Given the description of an element on the screen output the (x, y) to click on. 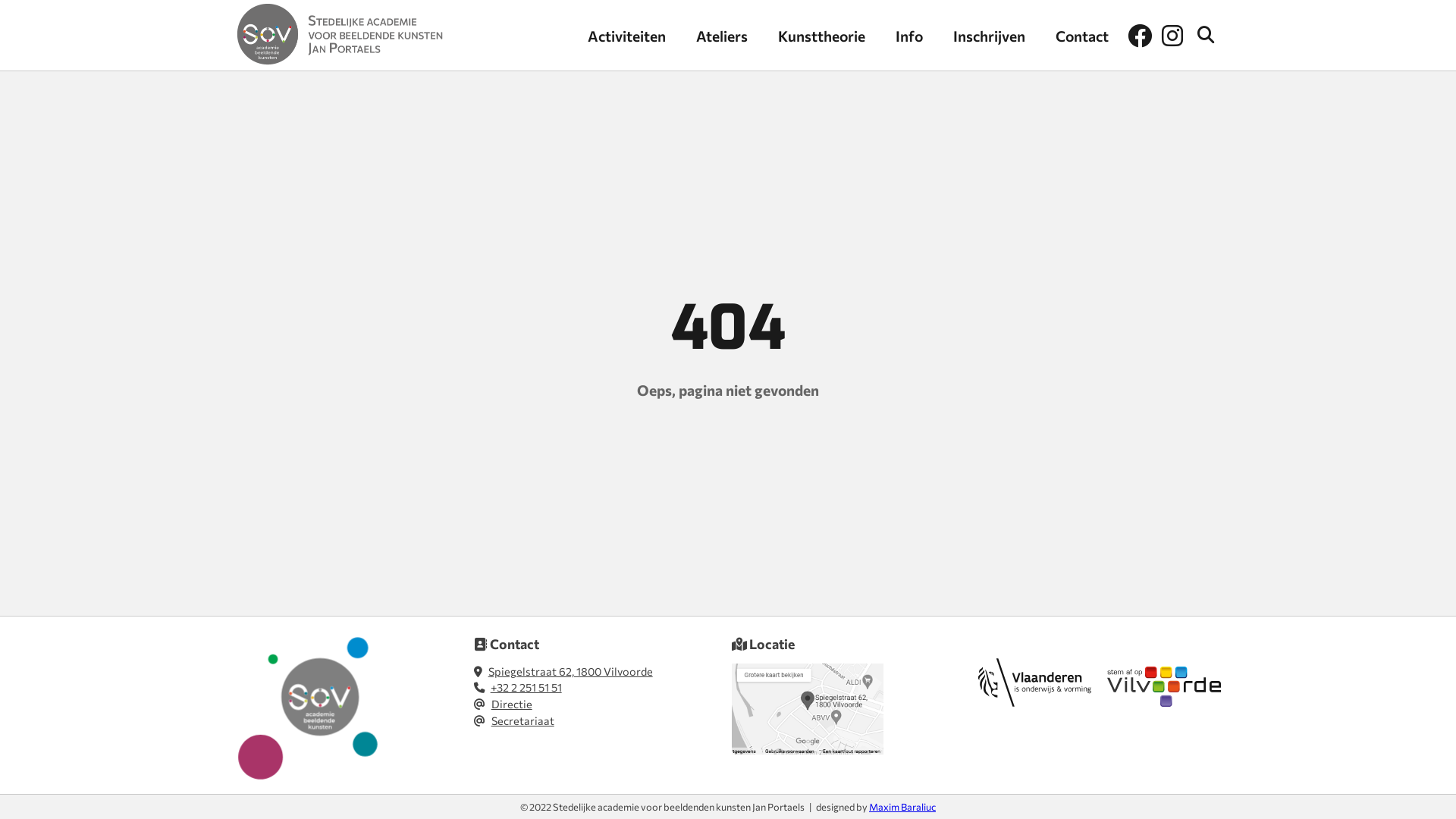
naar google map Element type: hover (807, 749)
Maxim Baraliuc Element type: text (902, 806)
Secretariaat Element type: text (522, 720)
+32 2 251 51 51 Element type: text (525, 686)
go to home page Element type: hover (340, 35)
Spiegelstraat 62, 1800 Vilvoorde Element type: text (570, 670)
Directie Element type: text (511, 703)
